Given the description of an element on the screen output the (x, y) to click on. 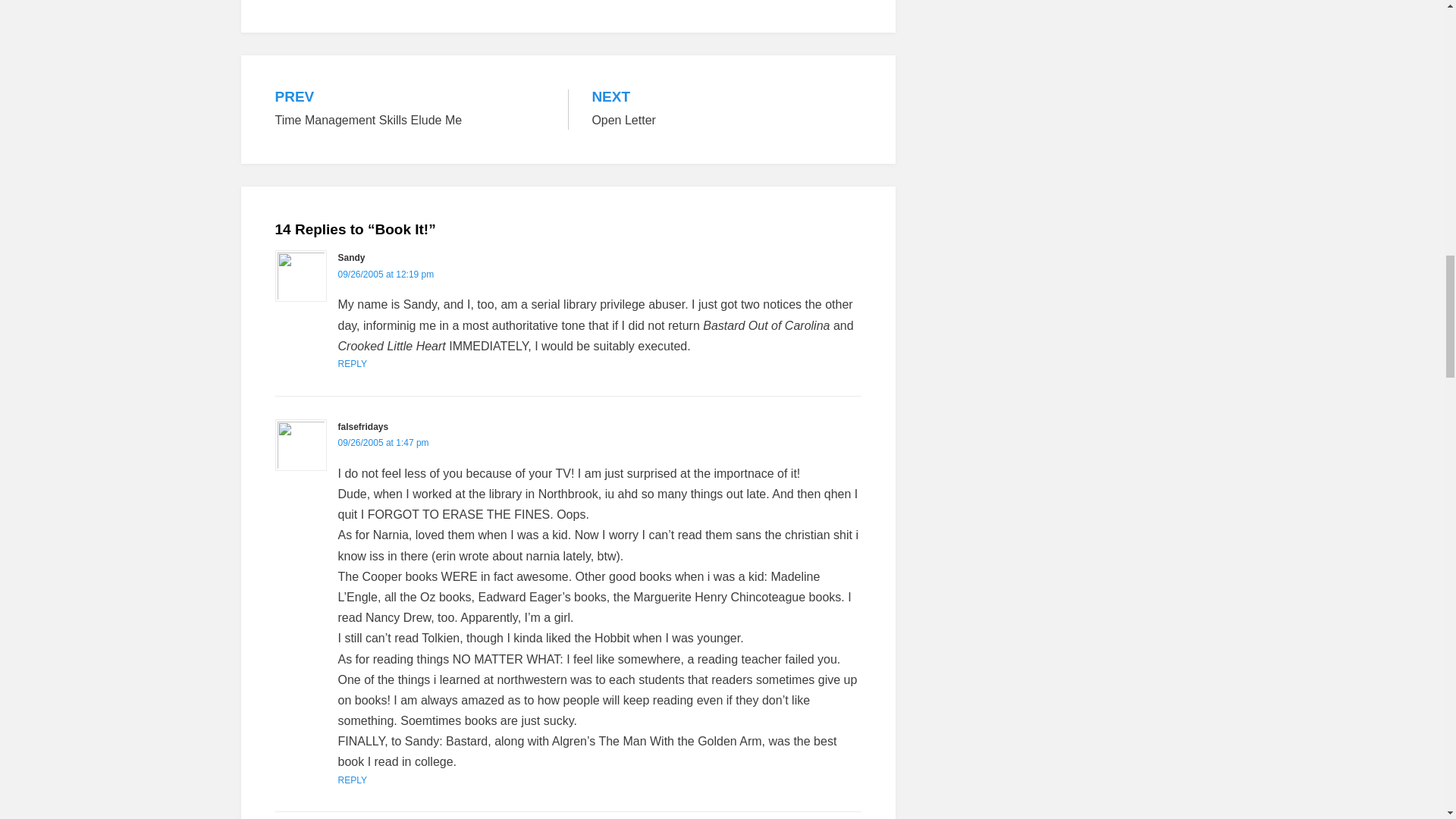
falsefridays (362, 426)
REPLY (351, 363)
everyday stories (359, 7)
REPLY (351, 779)
Sandy (726, 109)
